Given the description of an element on the screen output the (x, y) to click on. 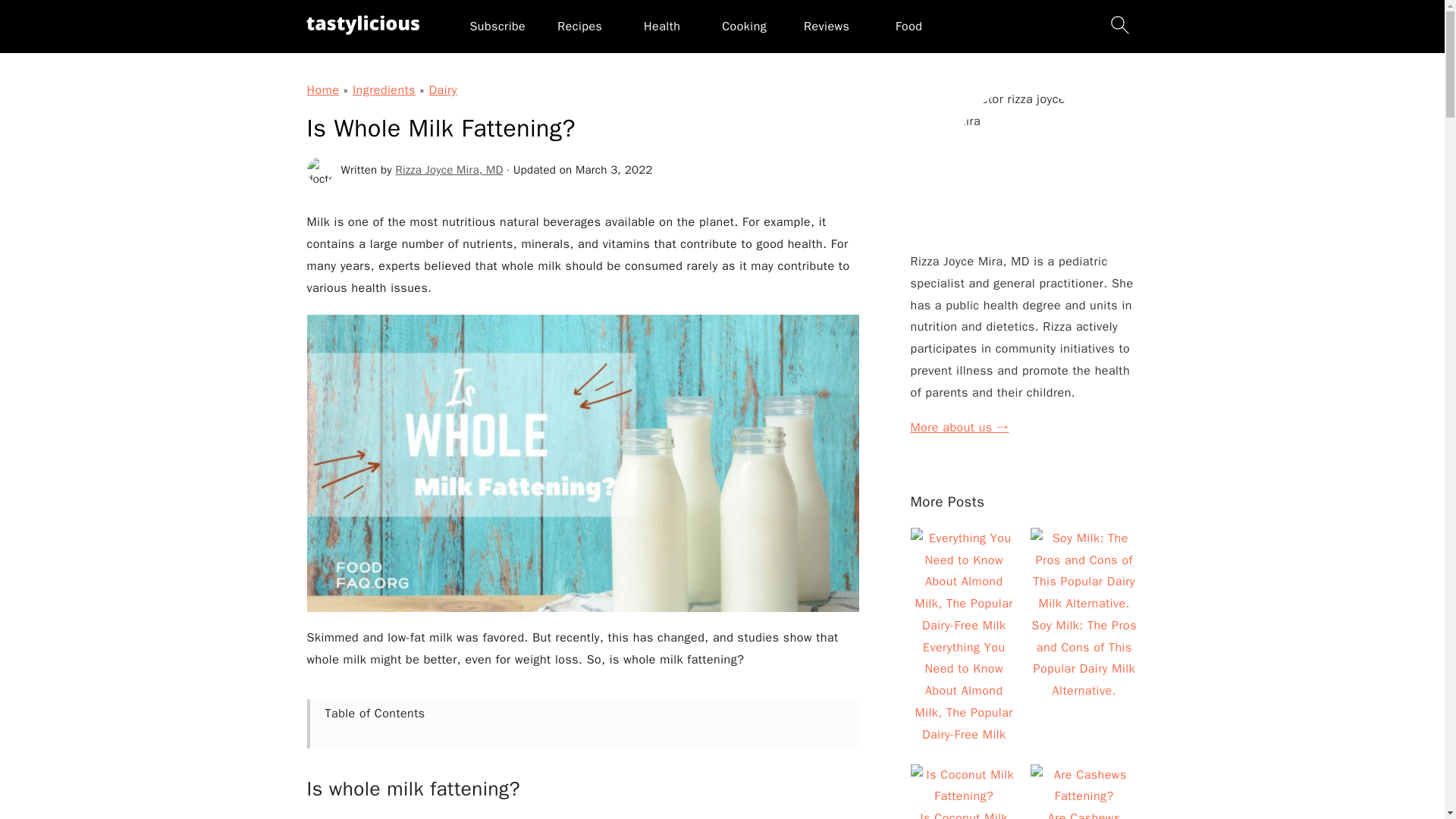
Health (661, 26)
Reviews (825, 26)
Recipes (579, 26)
Subscribe (496, 26)
Home (322, 89)
Cooking (744, 26)
search icon (1119, 24)
Ingredients (383, 89)
Dairy (443, 89)
Rizza Joyce Mira, MD (449, 169)
Food (909, 26)
